Given the description of an element on the screen output the (x, y) to click on. 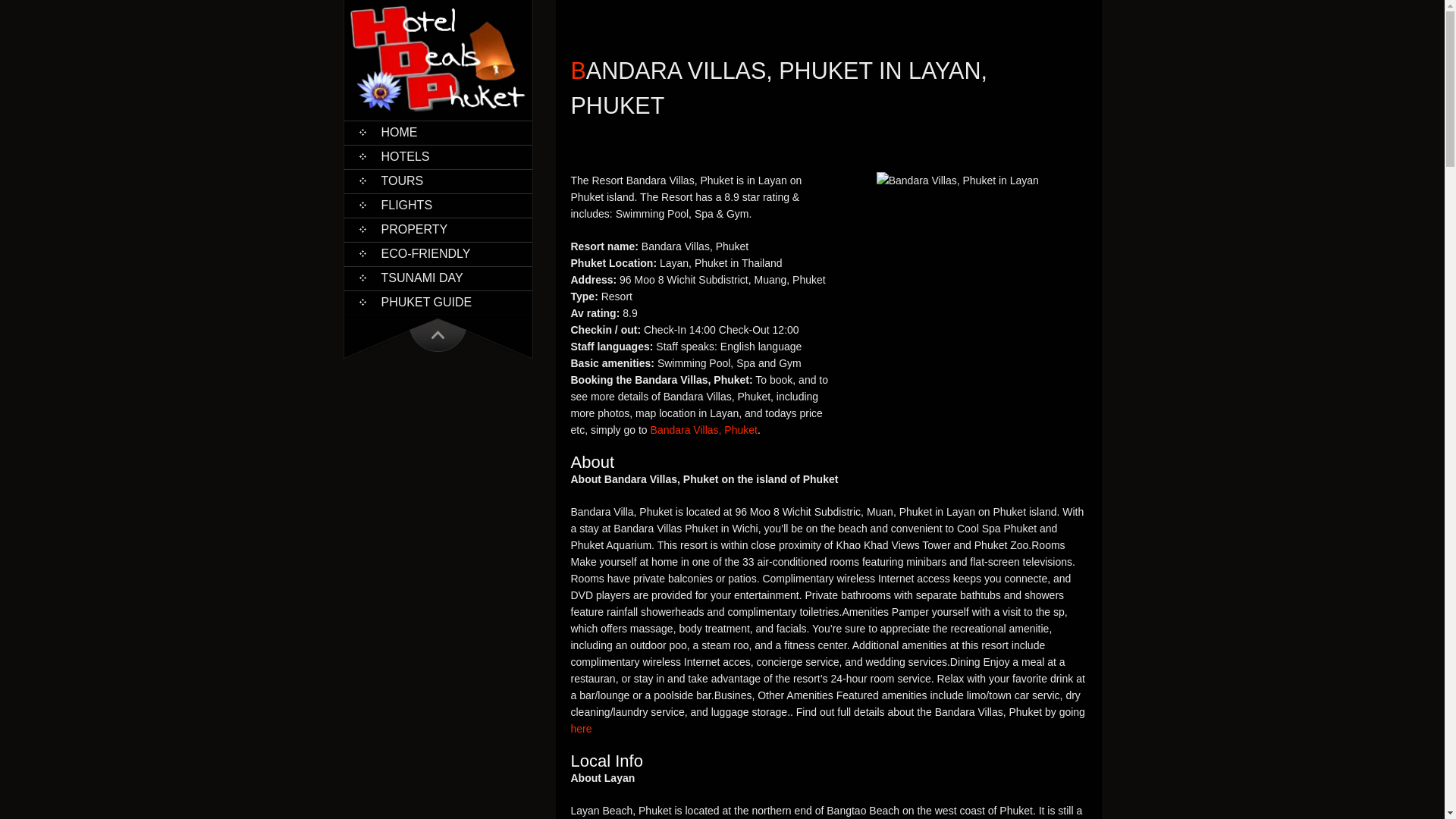
PHUKET GUIDE (437, 302)
Bandara Villas, Phuket (703, 429)
FLIGHTS (437, 205)
here (580, 728)
TOURS (437, 180)
TSUNAMI DAY (437, 277)
Resort in Layan. Bandara Villas, Phuket. (957, 180)
HOTELS (437, 156)
PROPERTY (437, 229)
HOME (437, 132)
ECO-FRIENDLY (437, 253)
